Given the description of an element on the screen output the (x, y) to click on. 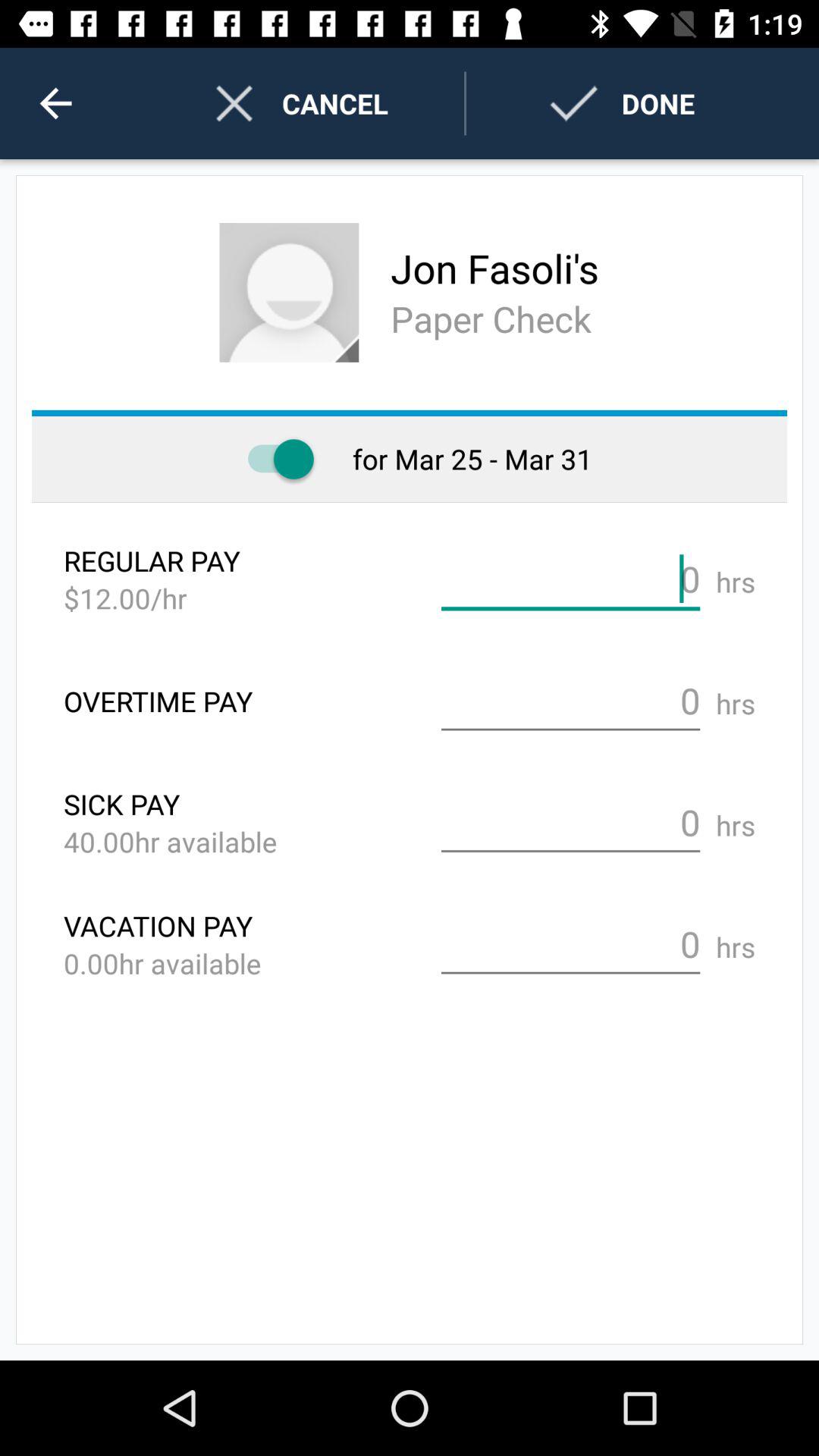
profile picture (288, 292)
